Given the description of an element on the screen output the (x, y) to click on. 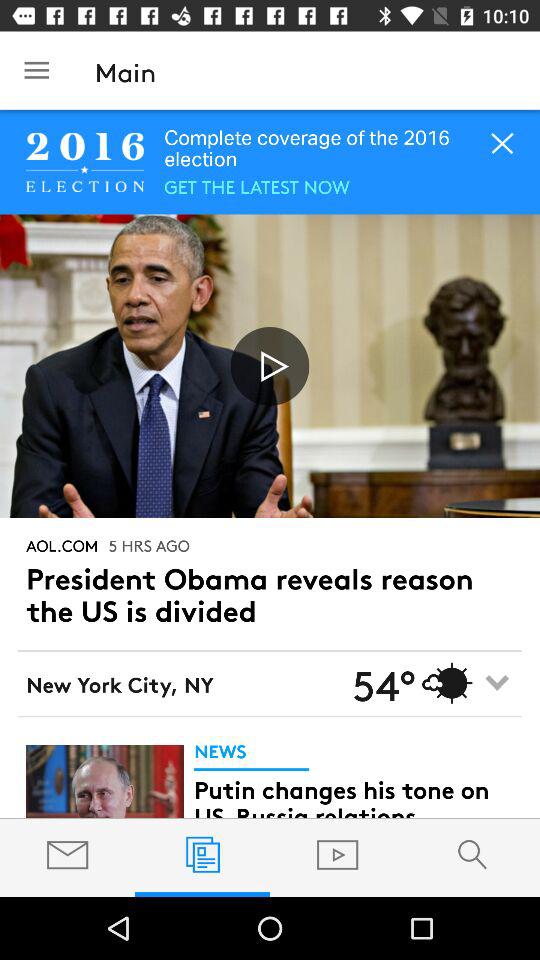
play this video (270, 366)
